Given the description of an element on the screen output the (x, y) to click on. 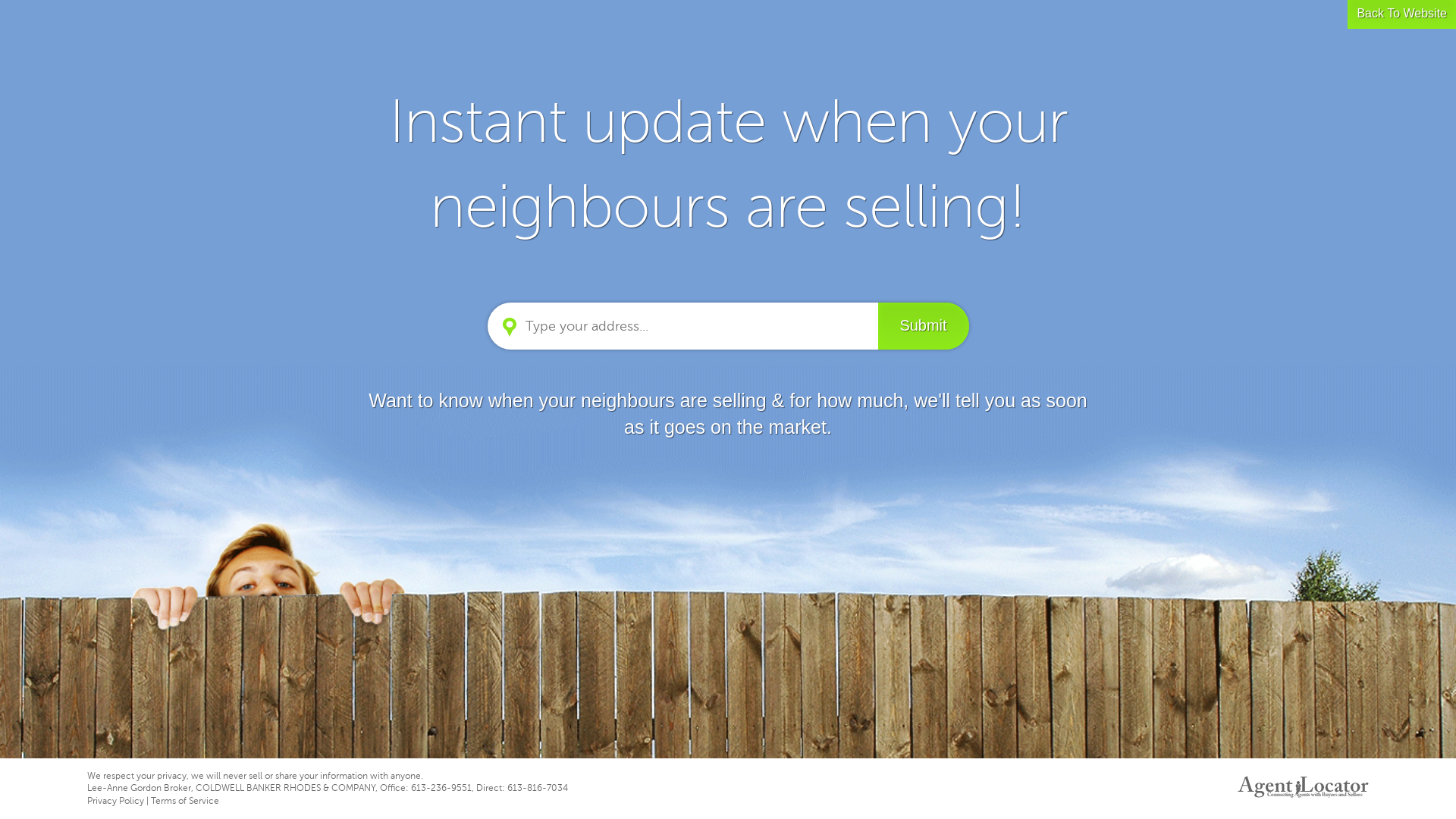
Powered by AgentLocator Element type: hover (1302, 786)
Privacy Policy Element type: text (115, 800)
Terms of Service Element type: text (184, 800)
Submit Element type: text (923, 325)
